Given the description of an element on the screen output the (x, y) to click on. 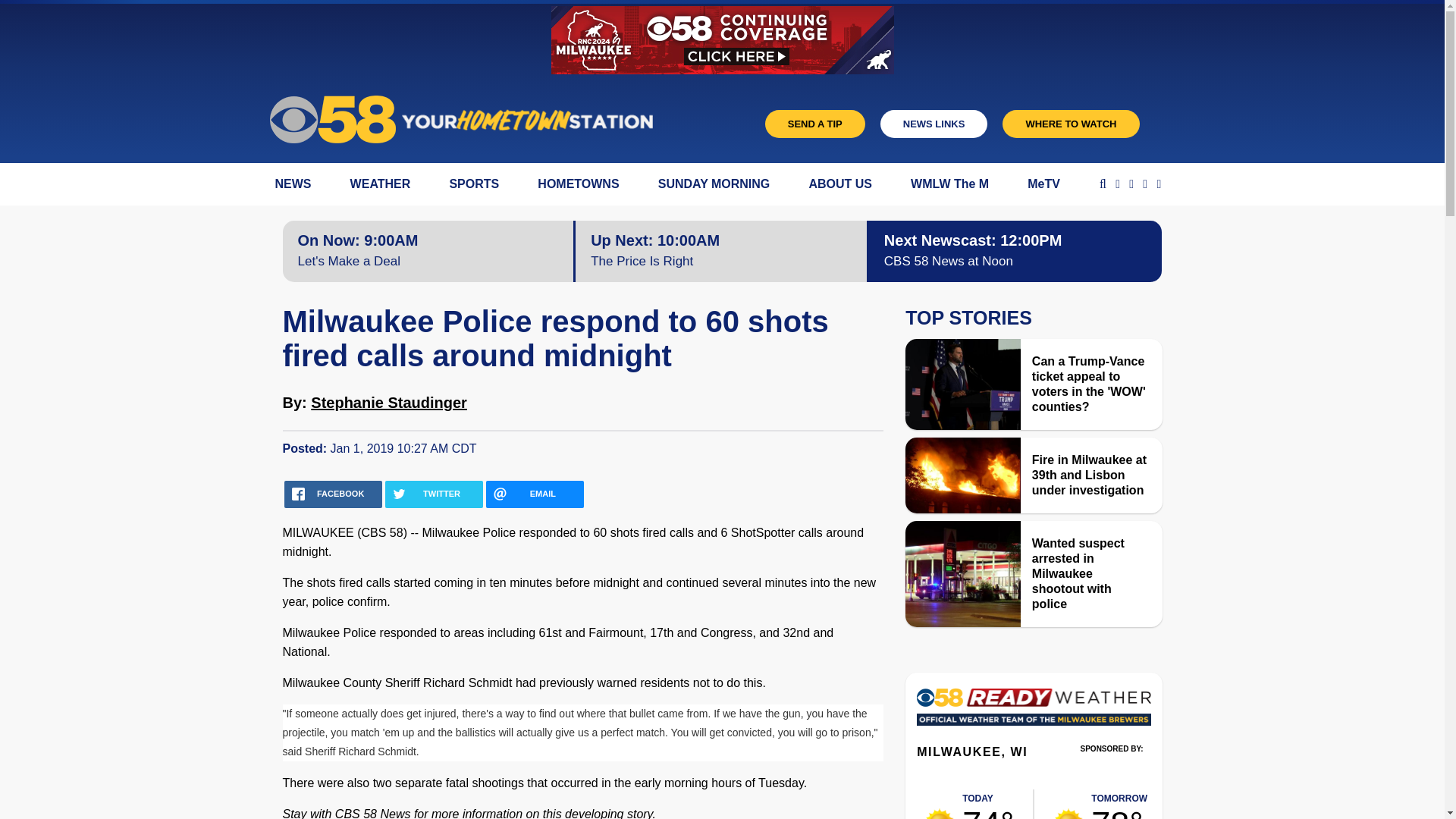
Weather (1033, 712)
weather (1067, 813)
weather (939, 813)
weather (987, 804)
weather (1118, 804)
3rd party ad content (1112, 770)
